Given the description of an element on the screen output the (x, y) to click on. 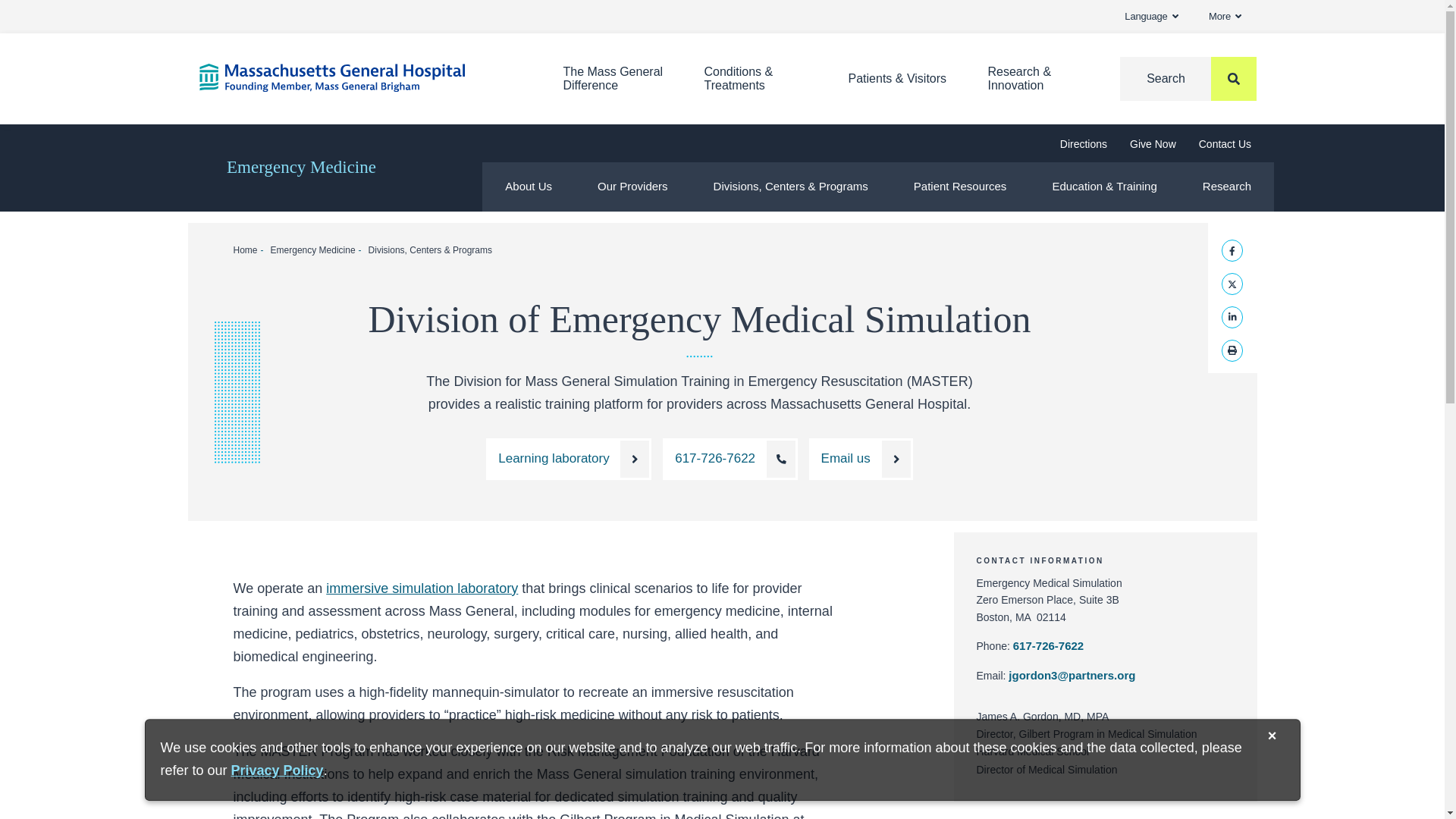
Language (1151, 16)
Home (357, 77)
More (1224, 16)
Department of Emergency Medicine (301, 168)
